Given the description of an element on the screen output the (x, y) to click on. 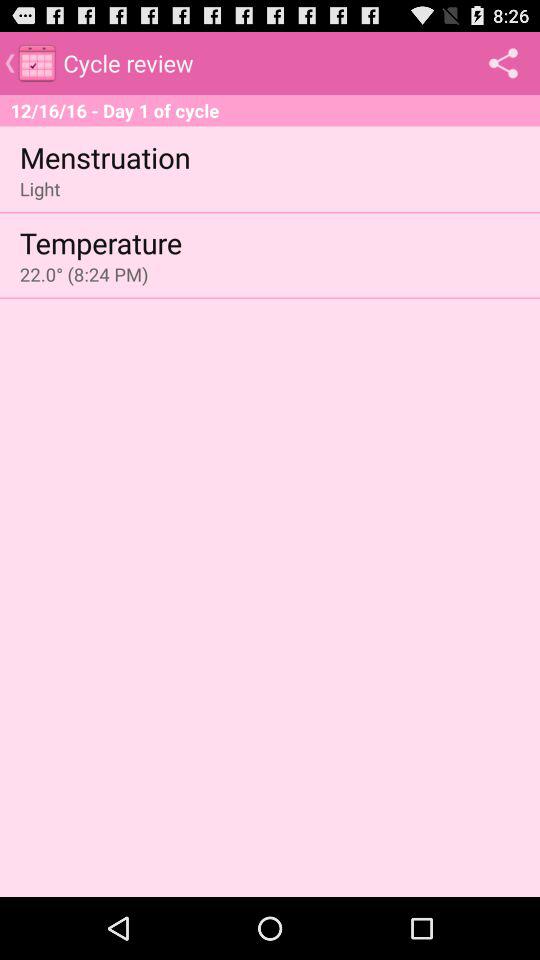
open light (39, 188)
